Given the description of an element on the screen output the (x, y) to click on. 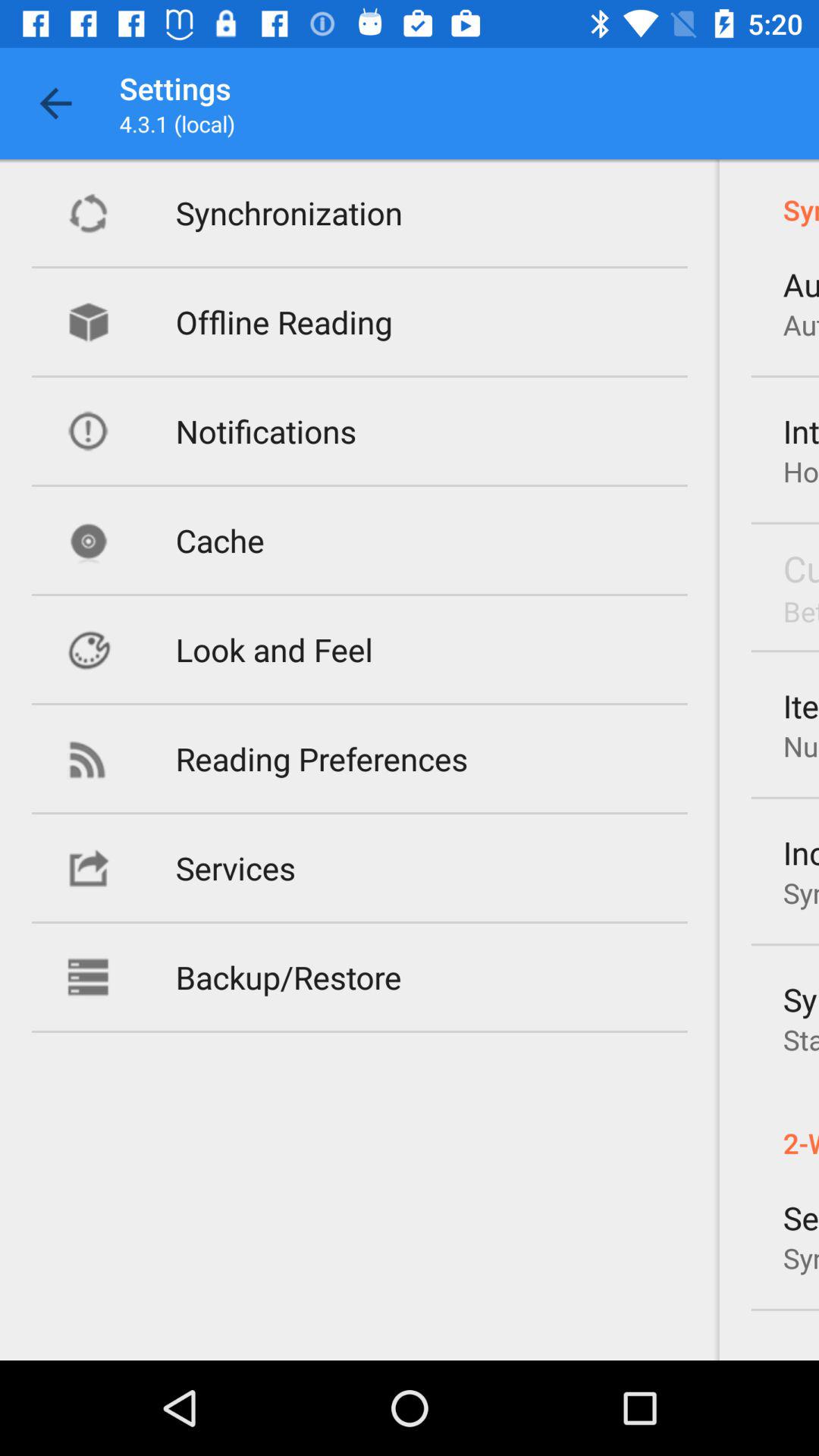
click the icon above the look and feel item (219, 539)
